Given the description of an element on the screen output the (x, y) to click on. 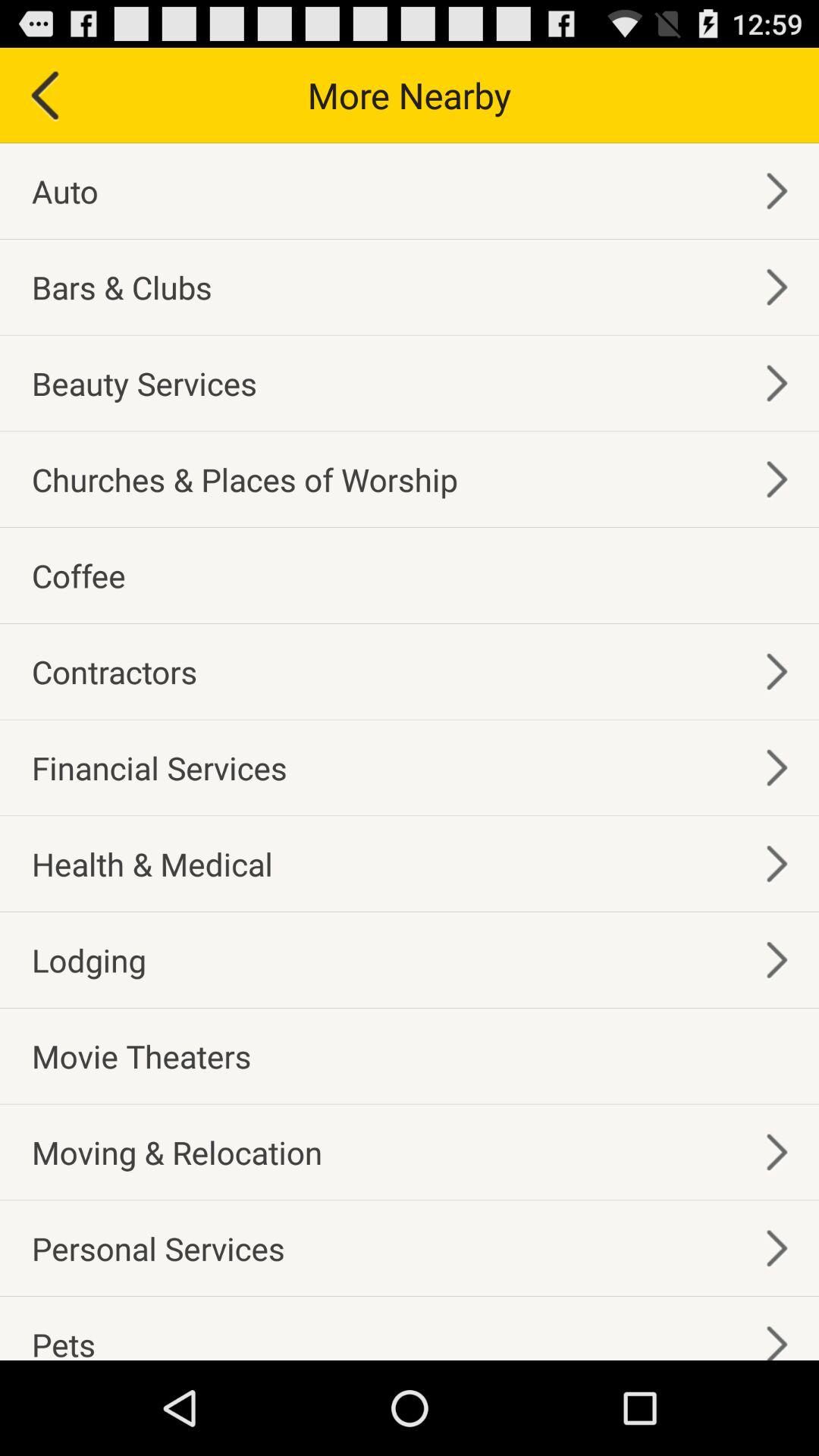
click the personal services (157, 1248)
